Given the description of an element on the screen output the (x, y) to click on. 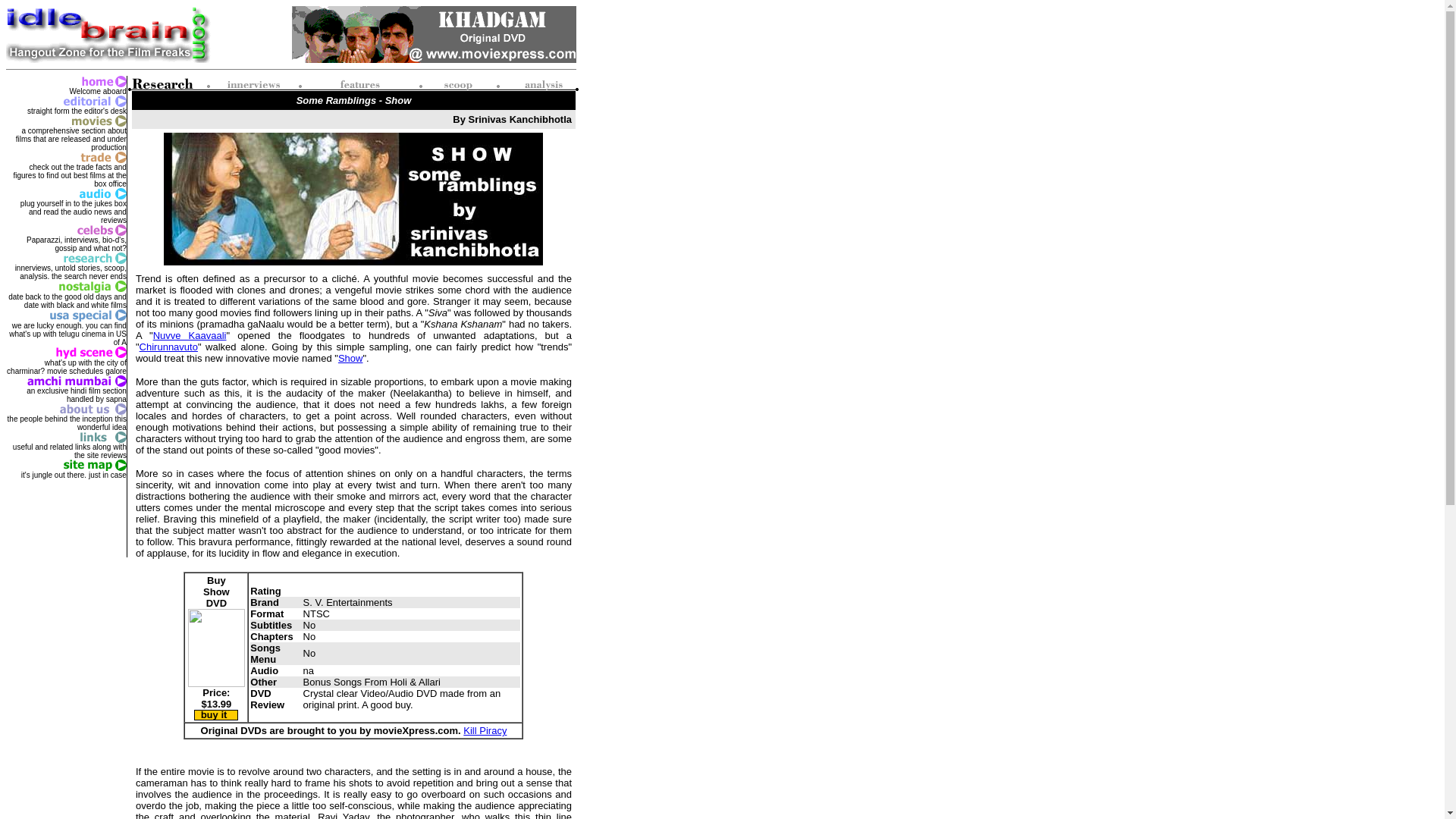
Nuvve Kaavaali (189, 335)
Kill Piracy (484, 730)
Show (349, 357)
Chirunnavuto (168, 346)
